Given the description of an element on the screen output the (x, y) to click on. 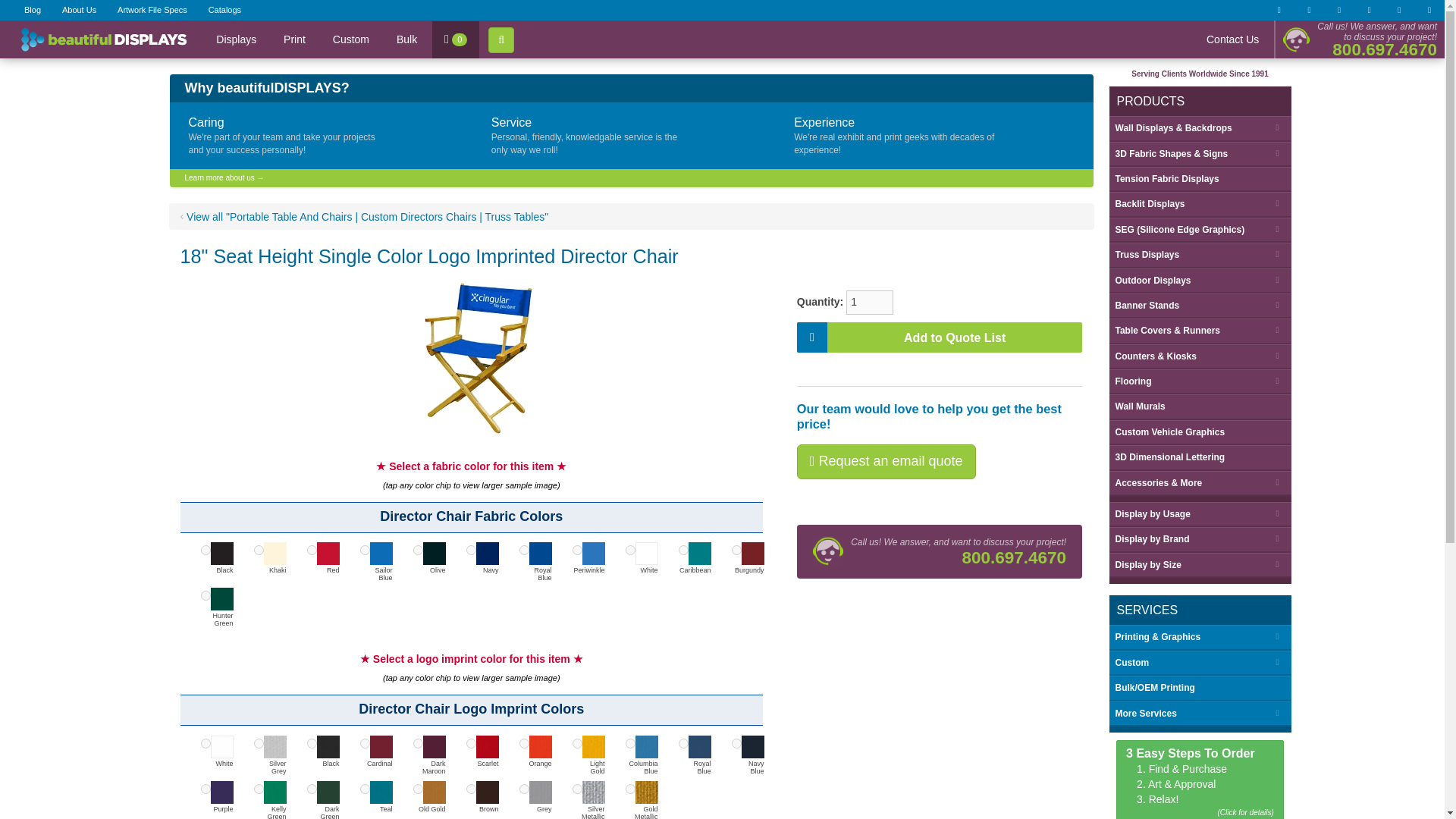
Periwinkle (576, 550)
Call us (1296, 39)
Catalogs (224, 10)
About Us (78, 10)
Bulk (406, 39)
Print (293, 39)
Dark Maroon (417, 743)
Olive (417, 550)
Red (310, 550)
Add to Quote List (939, 337)
Light Gold (576, 743)
Request an email quote (885, 461)
Burgundy (735, 550)
Navy (470, 550)
Custom (350, 39)
